Given the description of an element on the screen output the (x, y) to click on. 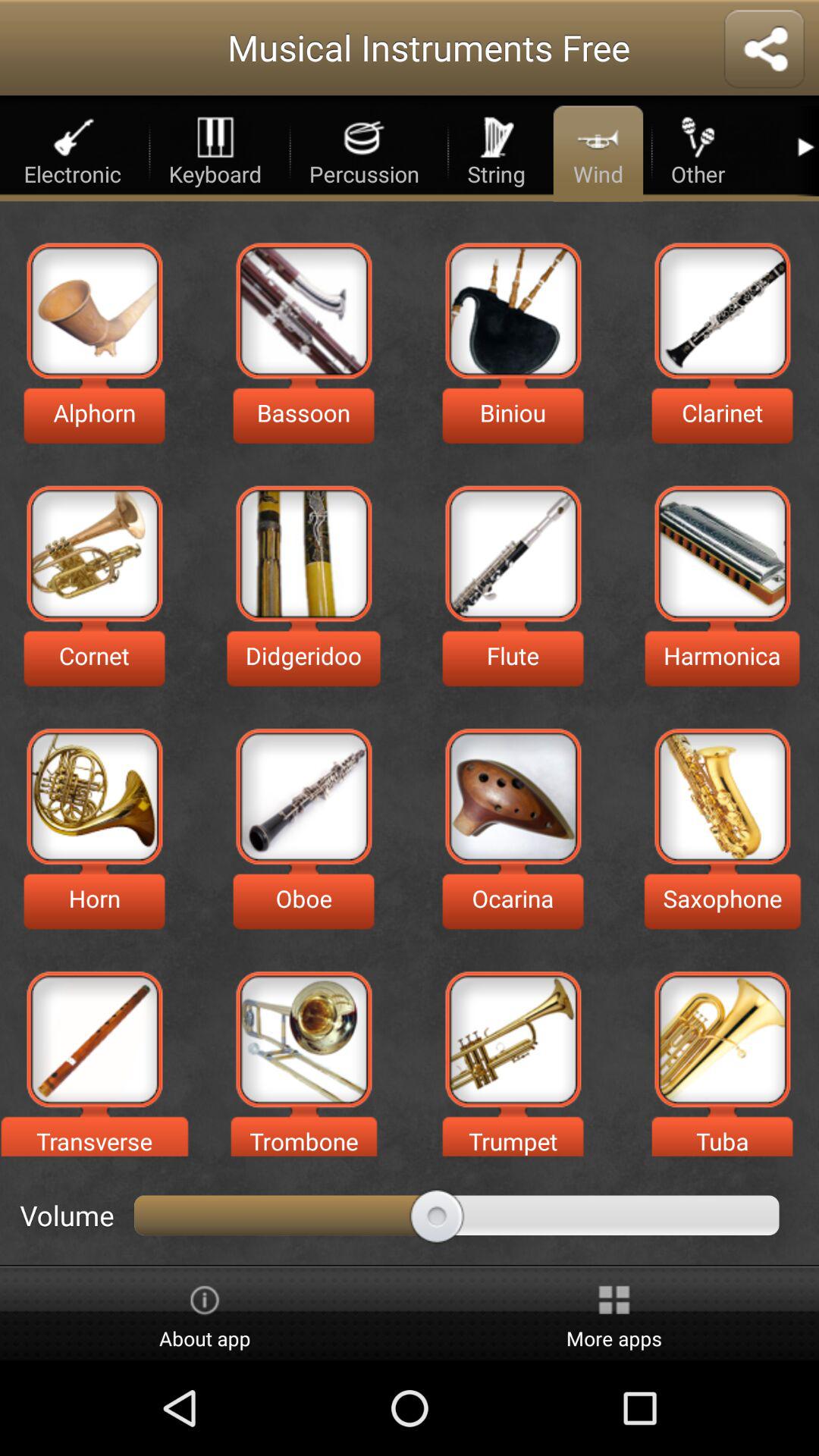
sound of a biniou (513, 310)
